Given the description of an element on the screen output the (x, y) to click on. 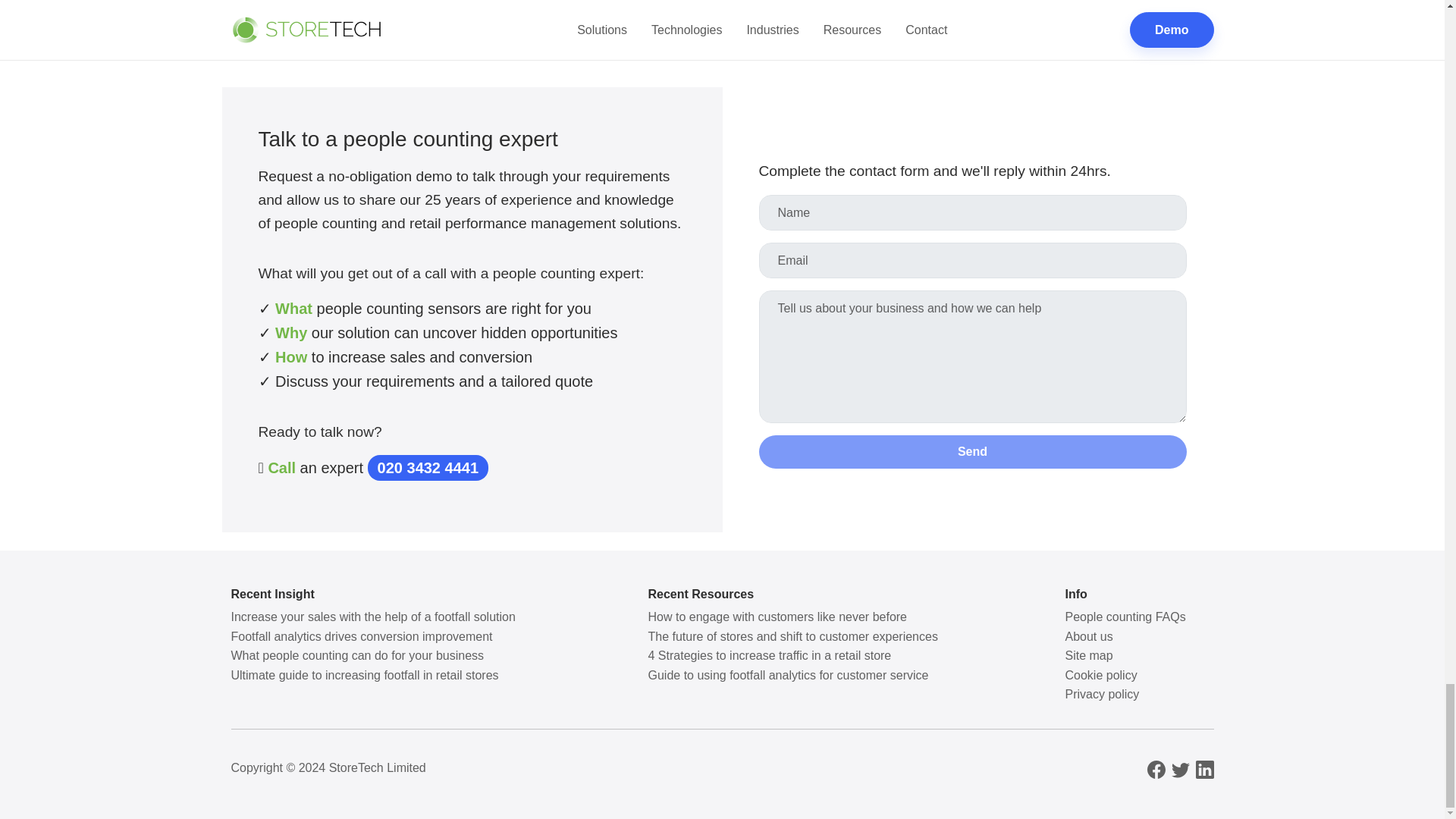
Increase your sales with the help of a footfall solution (372, 616)
Cookie policy (1100, 675)
Guide to using footfall analytics for customer service (787, 675)
020 3432 4441 (427, 467)
About us (1088, 635)
4 Strategies to increase traffic in a retail store (769, 655)
Site map (1088, 655)
The future of stores and shift to customer experiences (792, 635)
Back to Resources (722, 16)
Send (972, 451)
